Given the description of an element on the screen output the (x, y) to click on. 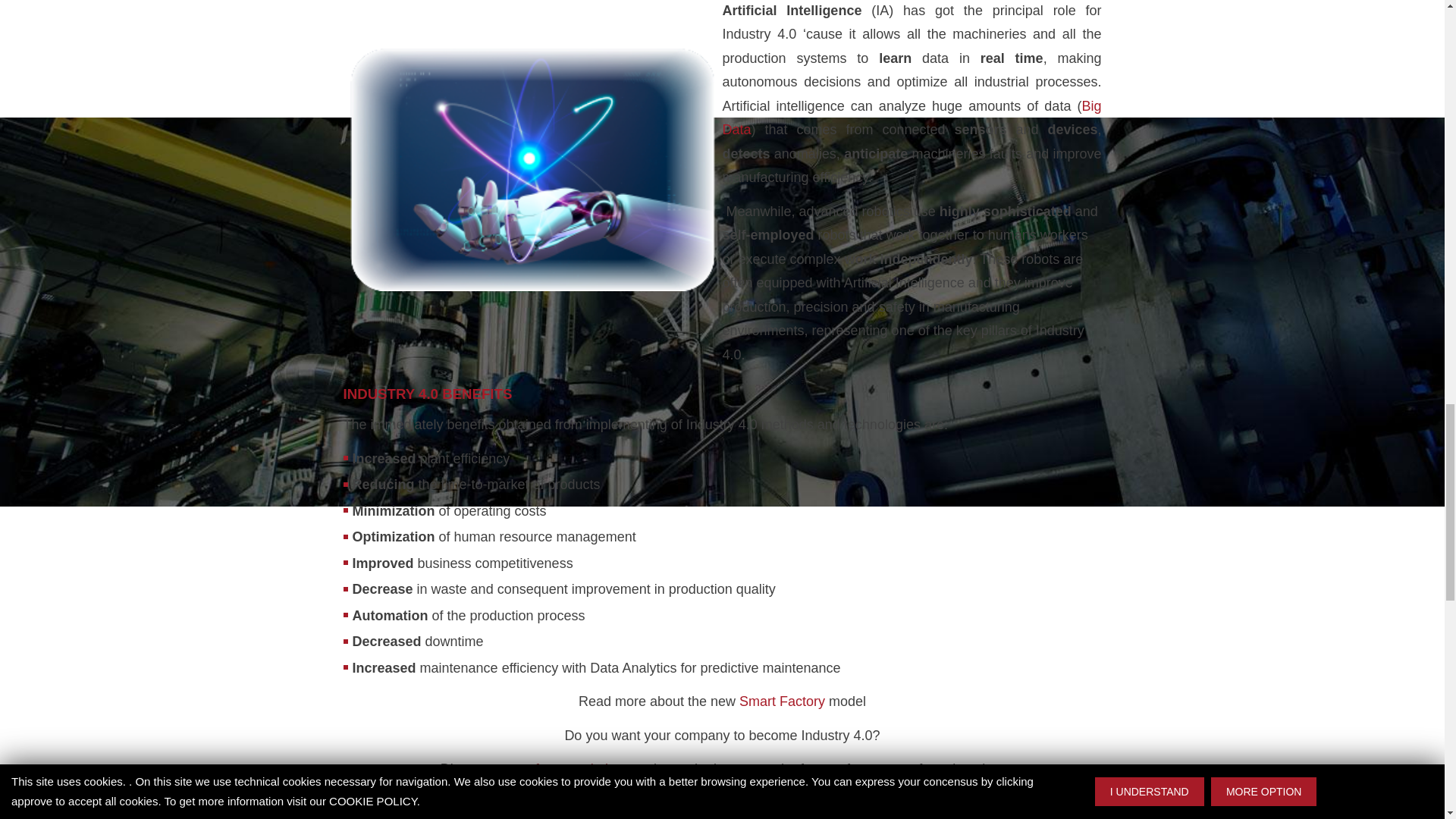
Big Data (911, 118)
Artificial Intelligence (532, 169)
Smart Factory (782, 701)
Smart Factory (782, 701)
